Given the description of an element on the screen output the (x, y) to click on. 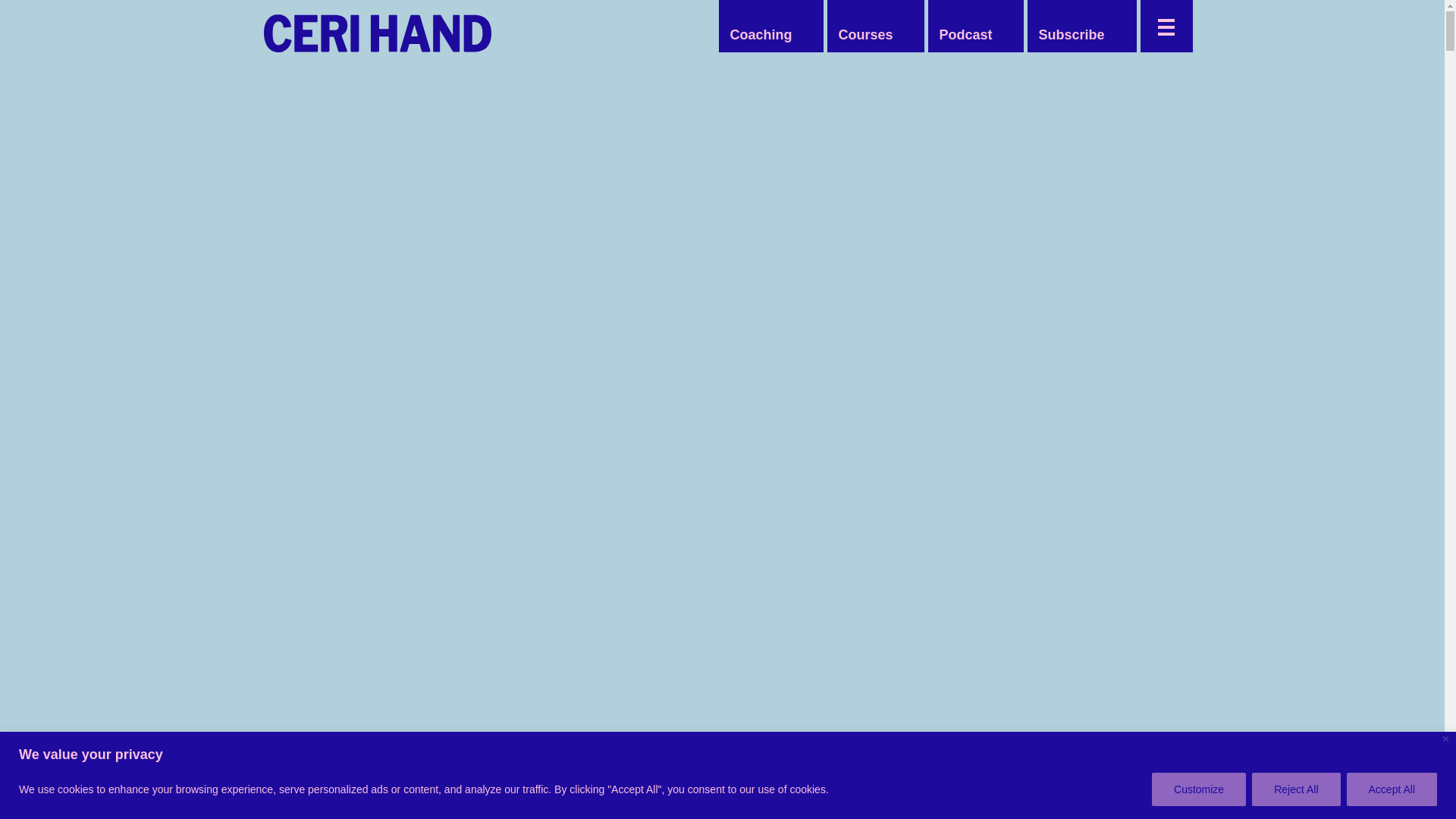
Podcast (964, 34)
Customize (1198, 788)
Accept All (1391, 788)
Courses (864, 34)
Subscribe (1070, 34)
Reject All (1295, 788)
Coaching (760, 34)
